Given the description of an element on the screen output the (x, y) to click on. 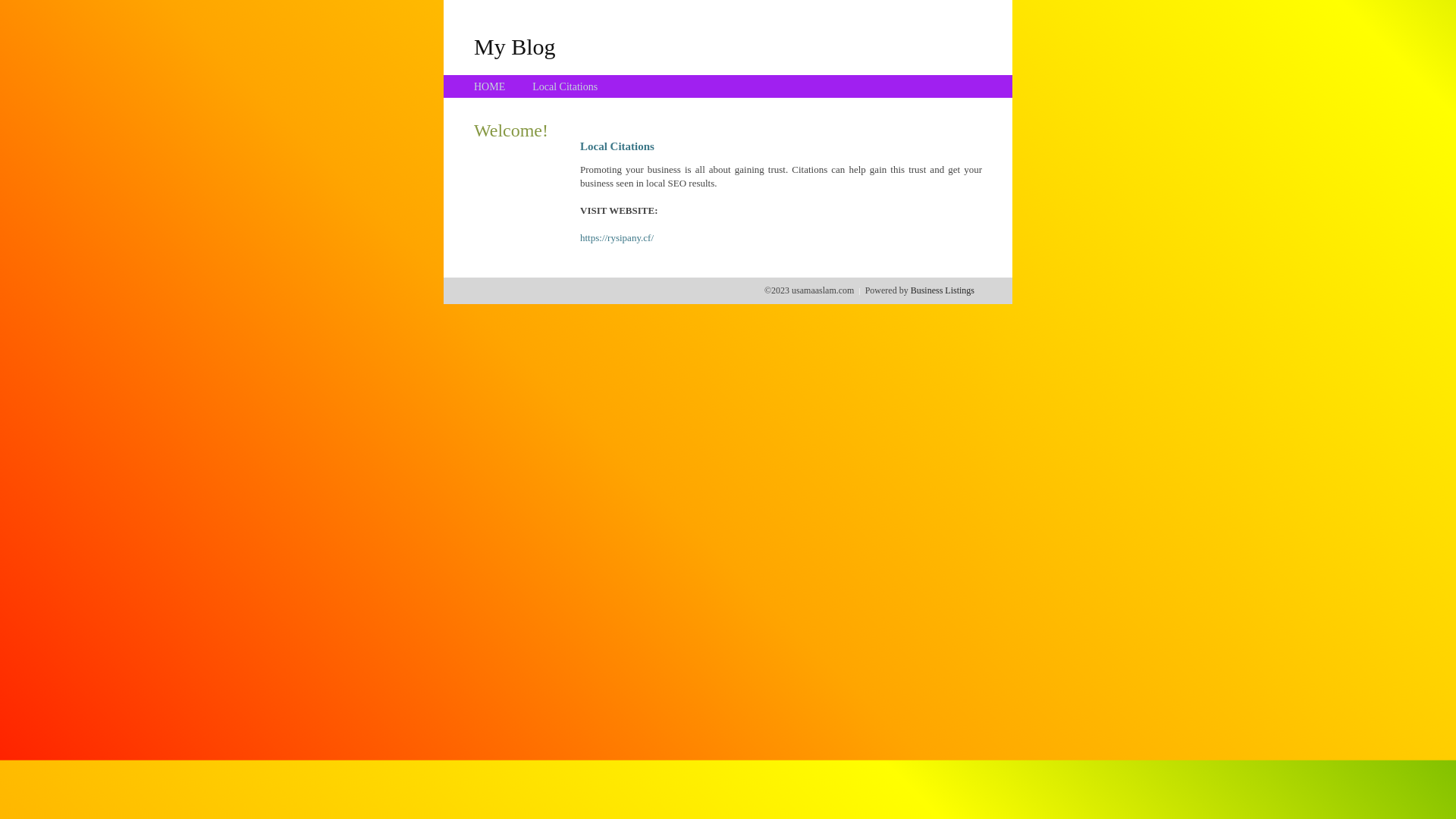
My Blog Element type: text (514, 46)
HOME Element type: text (489, 86)
Business Listings Element type: text (942, 290)
https://rysipany.cf/ Element type: text (616, 237)
Local Citations Element type: text (564, 86)
